Given the description of an element on the screen output the (x, y) to click on. 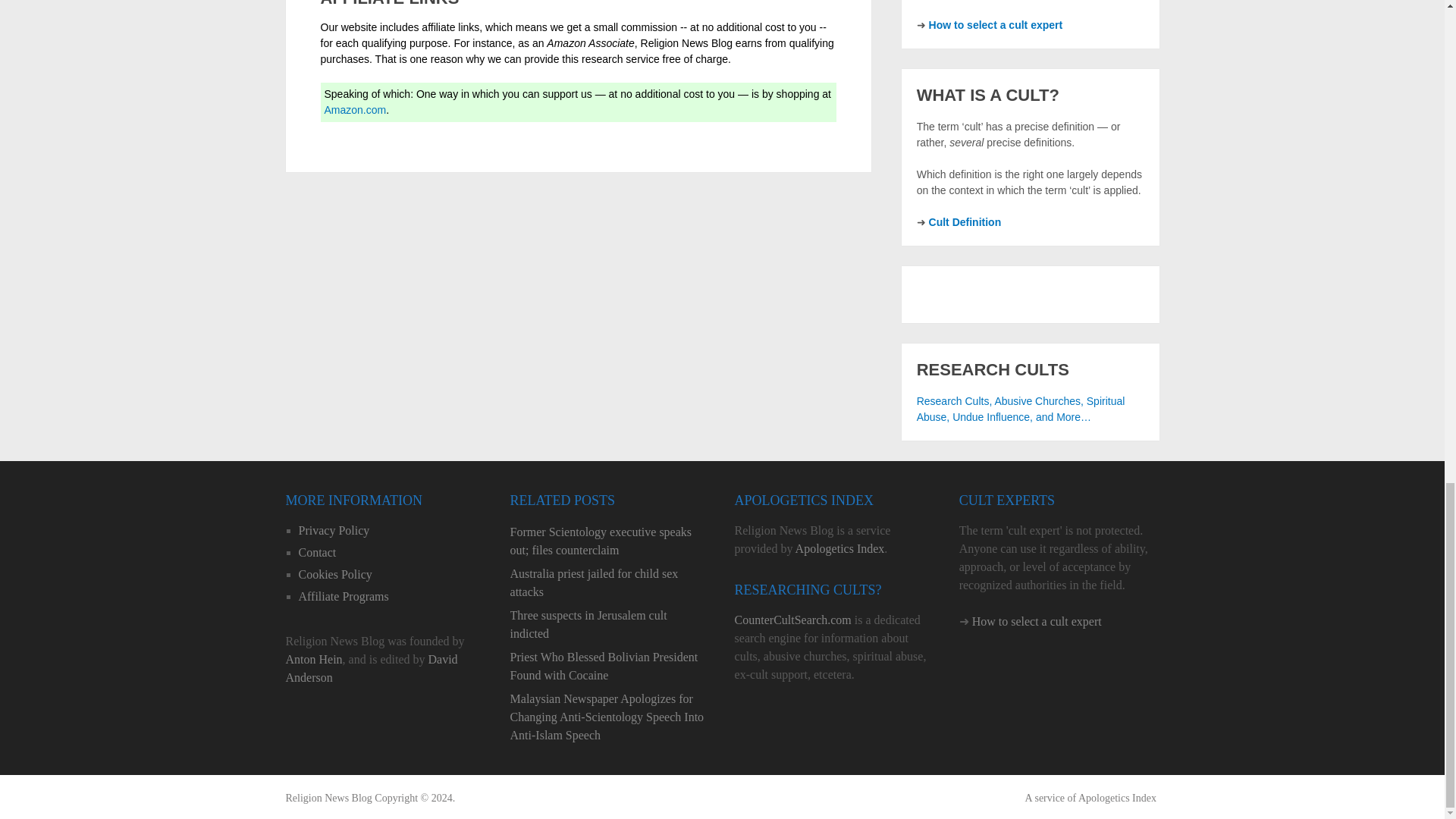
Amazon.com (355, 110)
Former Scientology executive speaks out; files counterclaim (610, 541)
Priest Who Blessed Bolivian President Found with Cocaine (610, 666)
Three suspects in Jerusalem cult indicted (610, 624)
 Religion news: religious cults, sects, and world religions (328, 797)
Australia priest jailed for child sex attacks (610, 583)
